Given the description of an element on the screen output the (x, y) to click on. 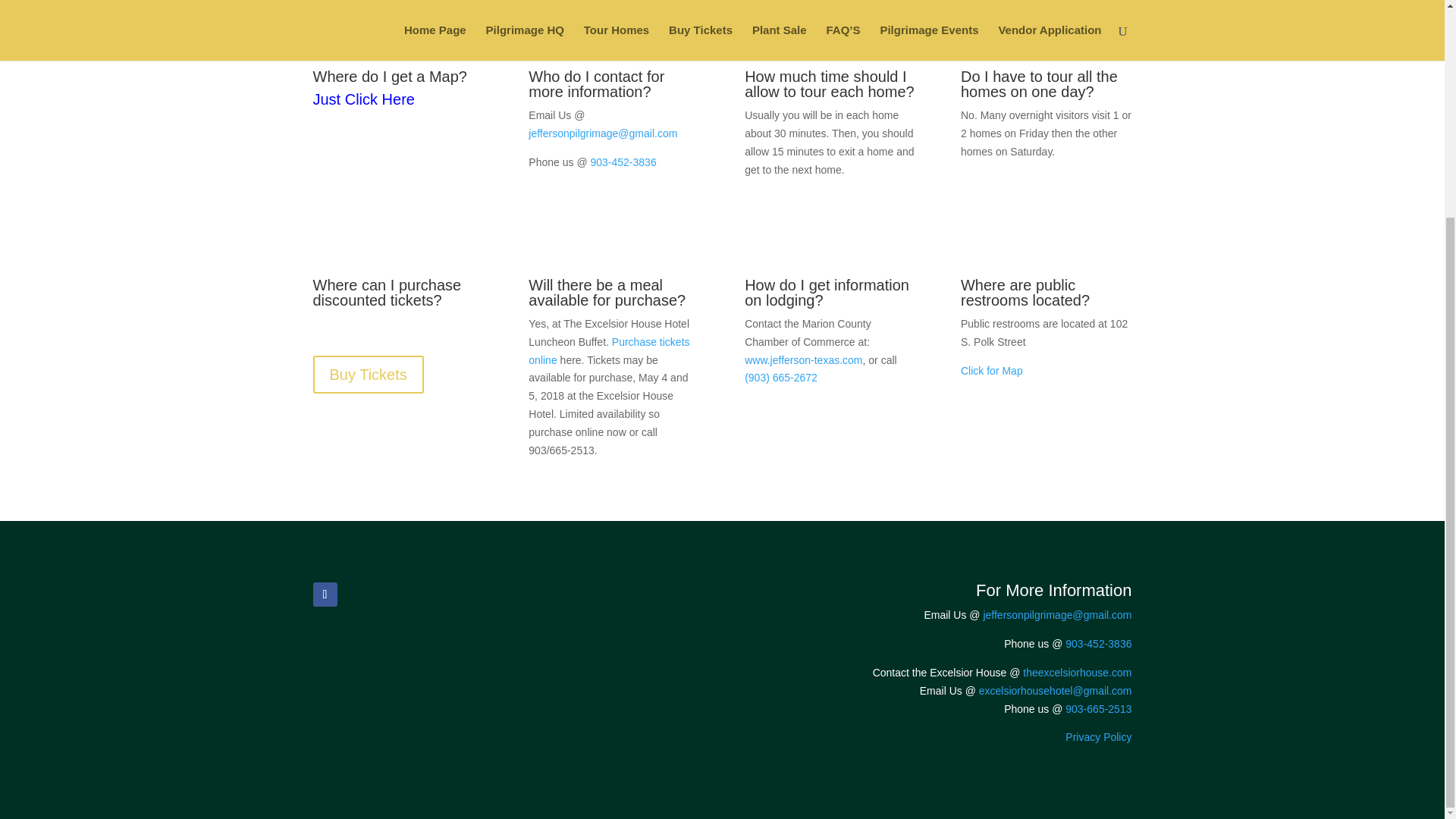
Follow on Facebook (324, 594)
Just Click Here (363, 98)
www.jefferson-texas.com (802, 359)
Buy Tickets (368, 374)
903-452-3836 (622, 162)
Purchase tickets online (608, 350)
